Given the description of an element on the screen output the (x, y) to click on. 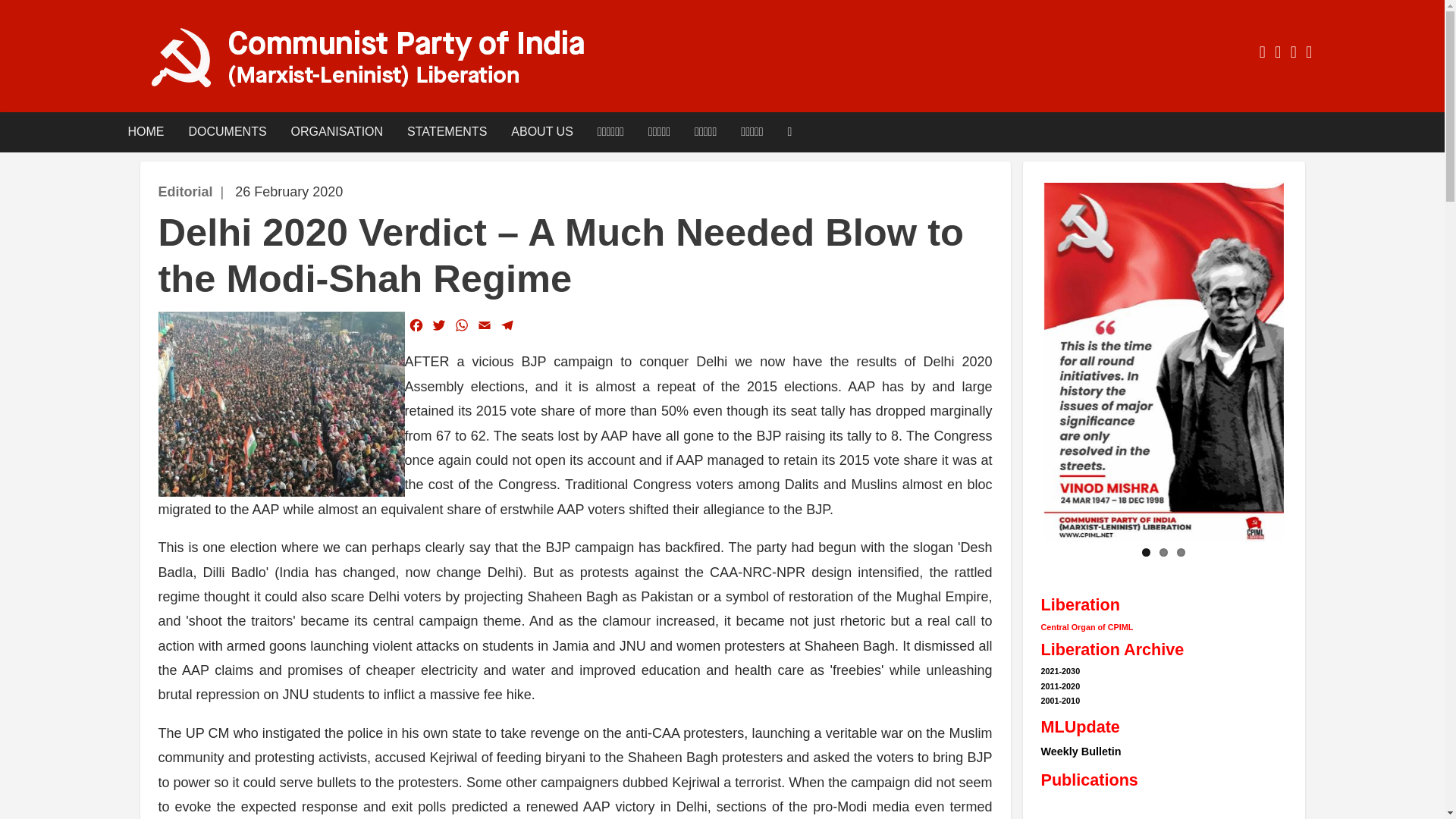
ABOUT US (542, 132)
Editorial (184, 191)
Facebook (416, 324)
WhatsApp (461, 324)
Twitter (438, 324)
Telegram (507, 324)
ORGANISATION (337, 132)
About Us (542, 132)
Party Documents (227, 132)
Email (484, 324)
STATEMENTS (446, 132)
DOCUMENTS (227, 132)
HOME (145, 132)
Home (382, 57)
